Given the description of an element on the screen output the (x, y) to click on. 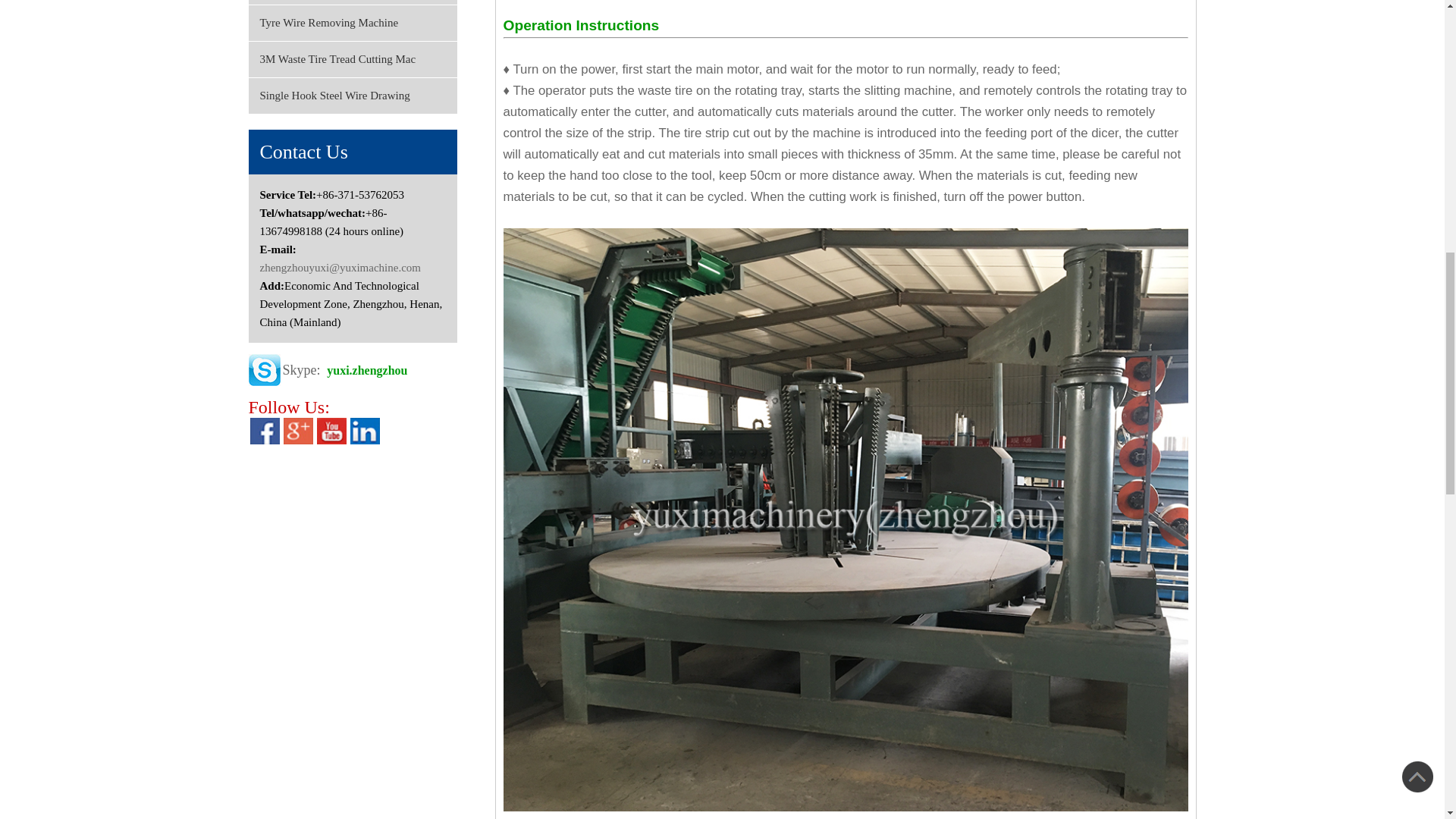
youtube (331, 428)
linken (365, 428)
google (298, 428)
facebook (264, 428)
